Given the description of an element on the screen output the (x, y) to click on. 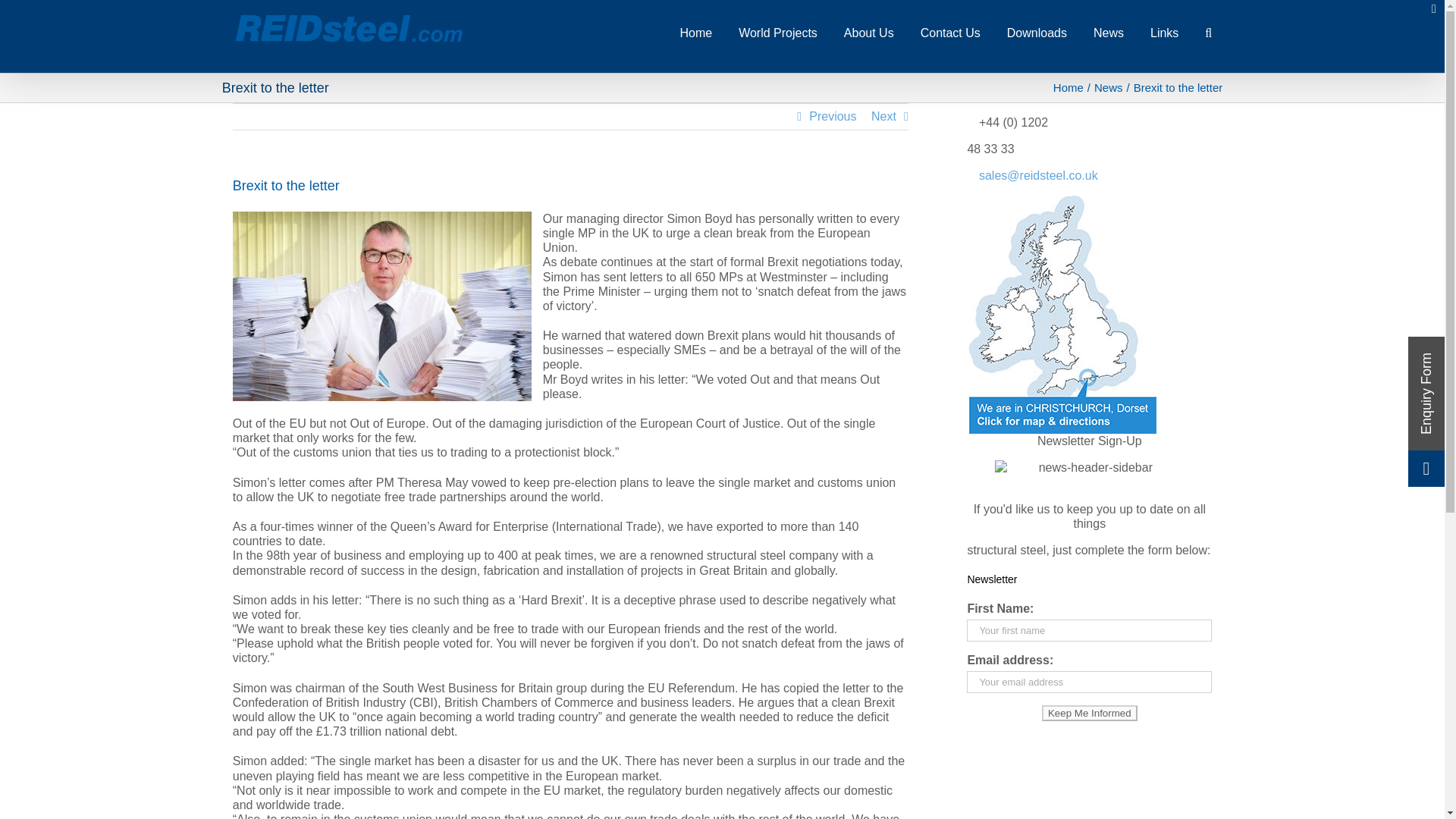
Links (1163, 32)
Keep Me Informed (1089, 713)
News (1108, 32)
Downloads (1037, 32)
Search (1208, 32)
About Us (868, 32)
Contact Us (949, 32)
World Projects (777, 32)
Home (695, 32)
